Given the description of an element on the screen output the (x, y) to click on. 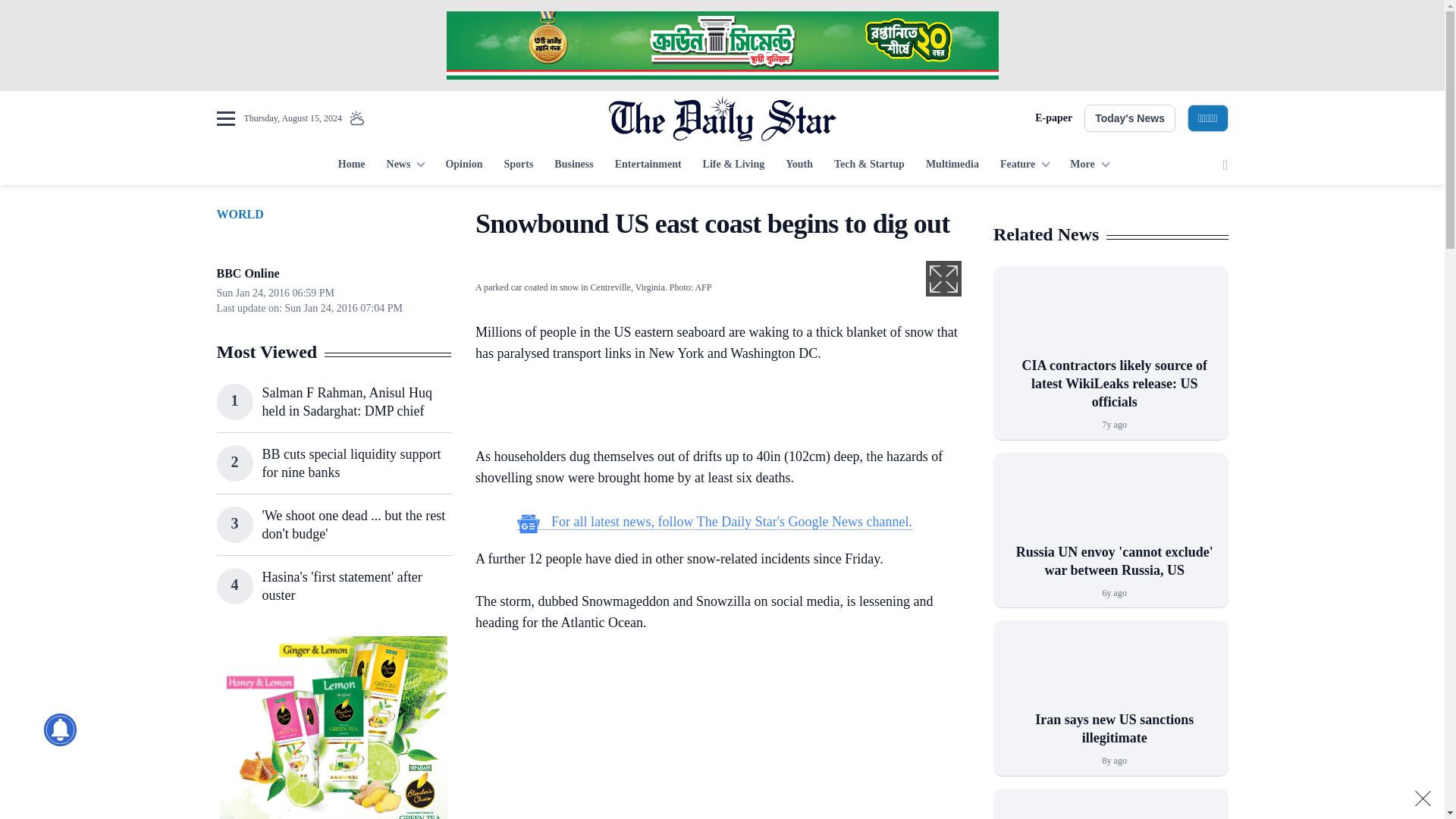
Youth (799, 165)
3rd party ad content (713, 736)
News (405, 165)
Opinion (463, 165)
E-paper (1053, 117)
Business (573, 165)
Entertainment (647, 165)
Home (351, 165)
Multimedia (952, 165)
